Given the description of an element on the screen output the (x, y) to click on. 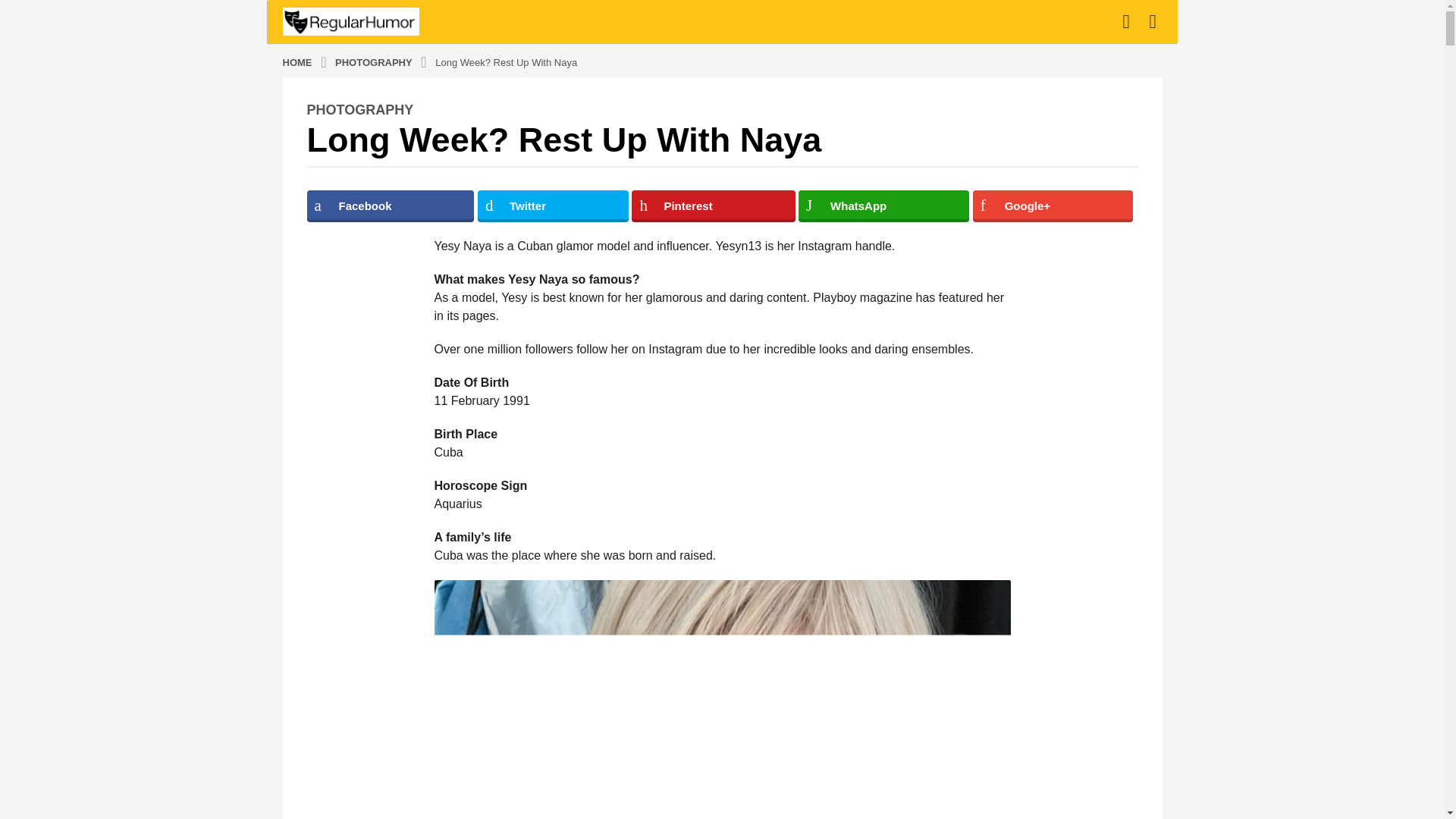
PHOTOGRAPHY (359, 109)
Facebook (389, 205)
Pinterest (712, 205)
Twitter (552, 205)
HOME (298, 61)
WhatsApp (883, 205)
Long Week? Rest Up With Naya (505, 61)
PHOTOGRAPHY (374, 61)
